Given the description of an element on the screen output the (x, y) to click on. 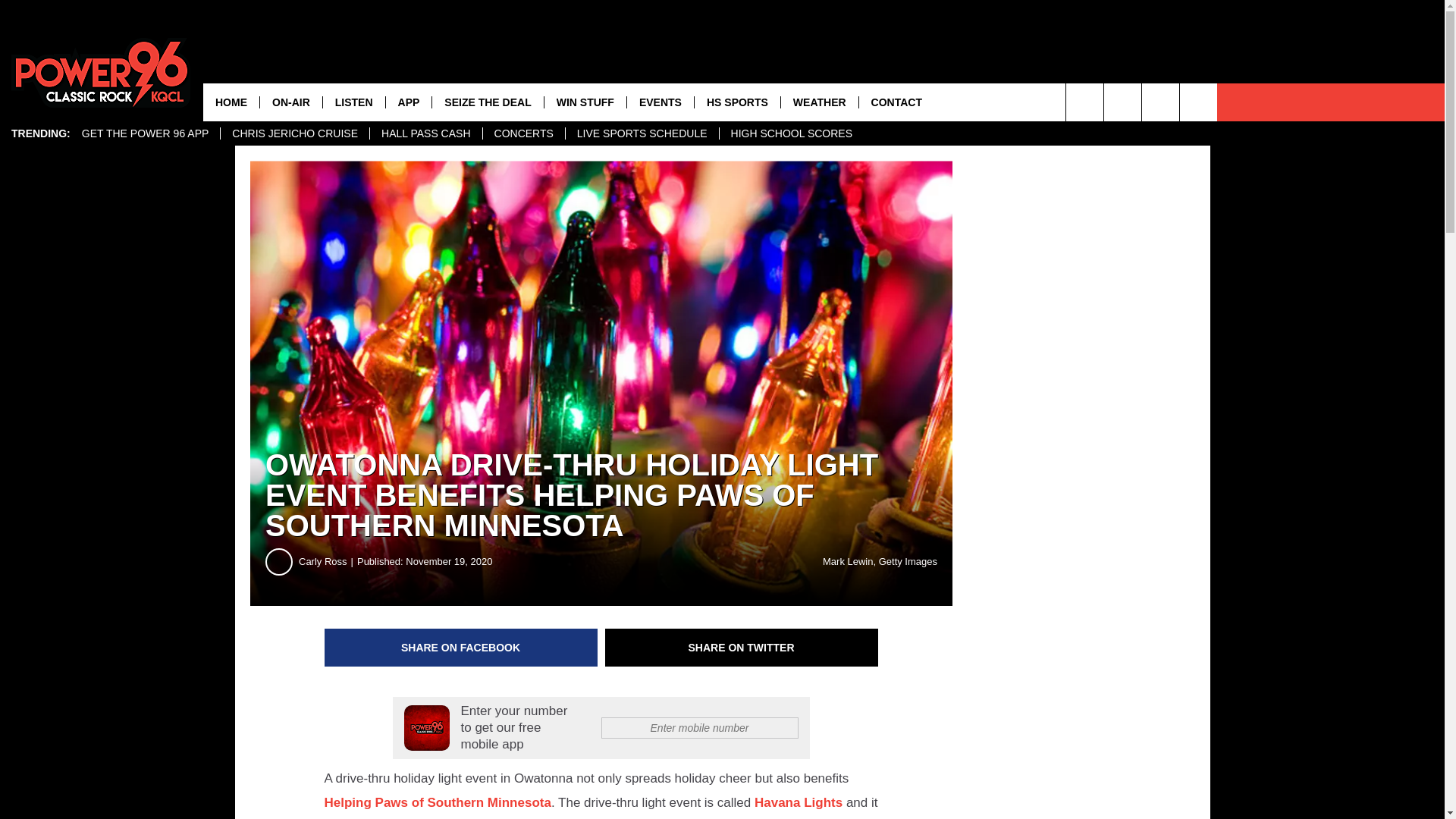
SEIZE THE DEAL (486, 102)
CHRIS JERICHO CRUISE (294, 133)
CONTACT (896, 102)
HOME (231, 102)
HS SPORTS (737, 102)
Share on Facebook (460, 647)
GET THE POWER 96 APP (145, 133)
EVENTS (660, 102)
ON-AIR (290, 102)
CONCERTS (522, 133)
